Given the description of an element on the screen output the (x, y) to click on. 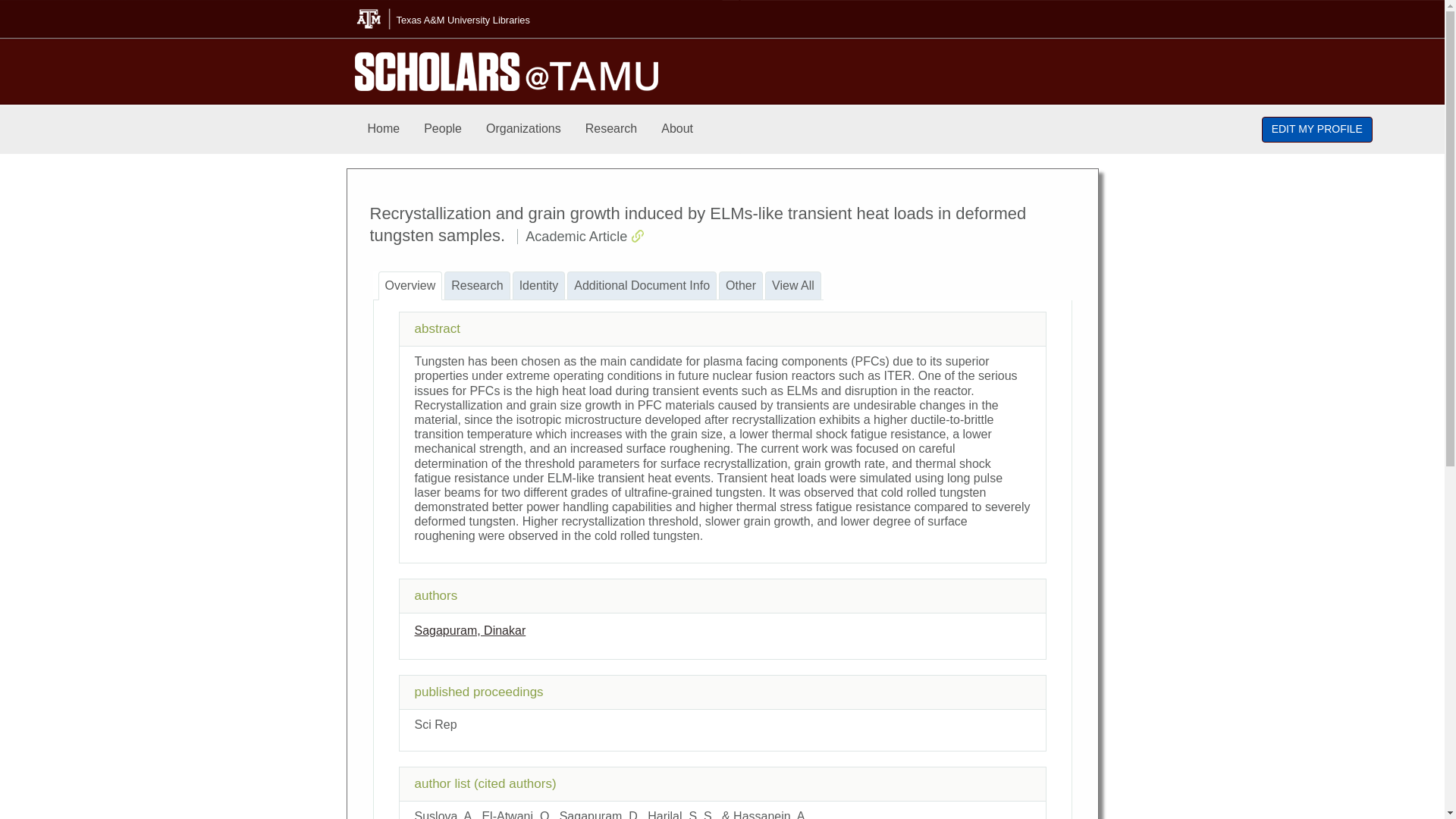
Sagapuram, Dinakar (469, 630)
Organizations menu item (523, 128)
People (443, 128)
Research menu item (611, 128)
About menu item (676, 128)
People menu item (443, 128)
Organizations (523, 128)
Research (611, 128)
Home menu item (383, 128)
Home (383, 128)
EDIT MY PROFILE (1317, 129)
About (676, 128)
author name (469, 630)
